Given the description of an element on the screen output the (x, y) to click on. 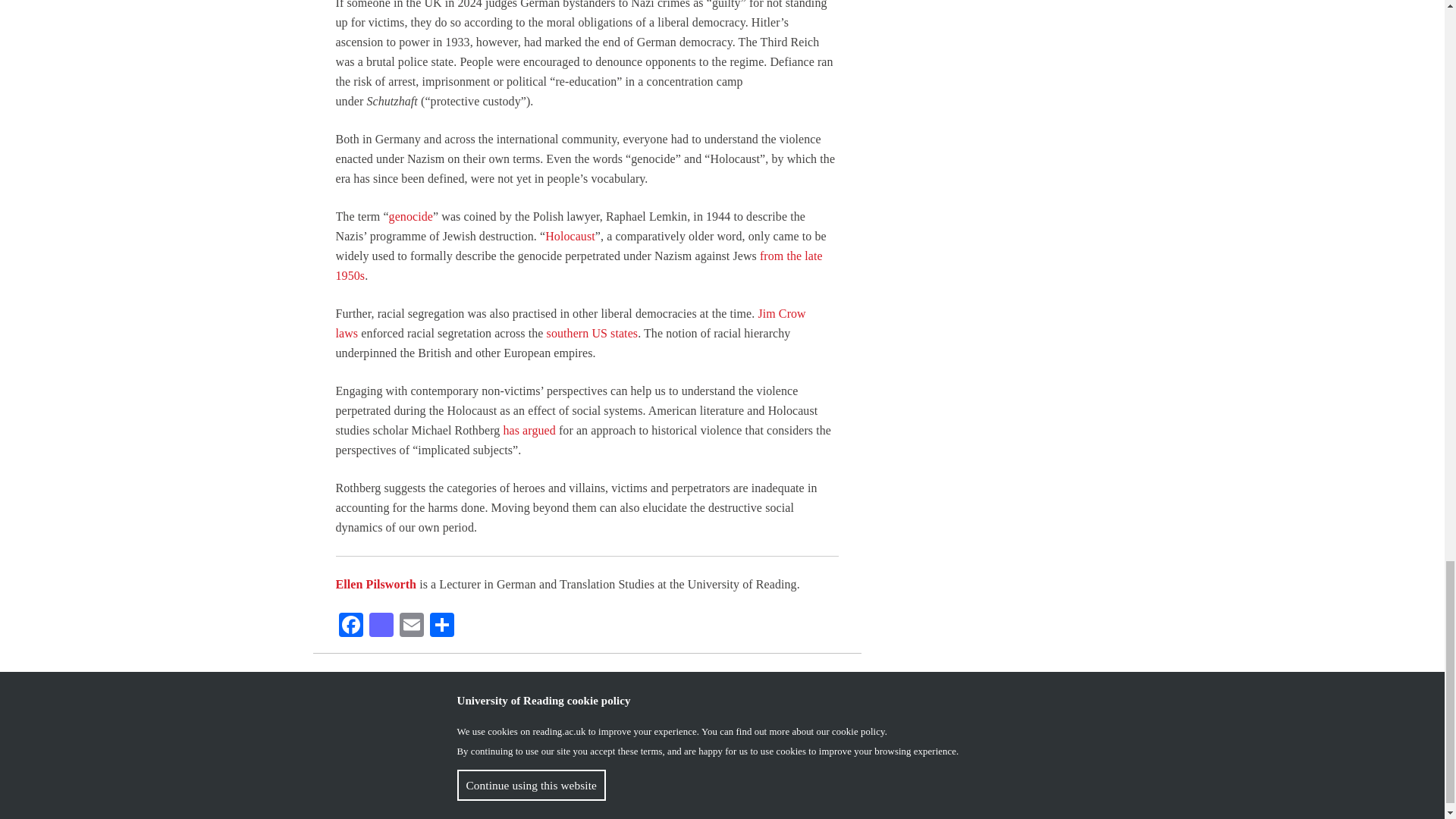
from the late 1950s (578, 265)
genocide (410, 215)
YouTube opens up in new browser window (1065, 798)
Email (411, 626)
View all posts tagged history (584, 683)
View all posts tagged German (425, 683)
Facebook opens up in new browser window (1036, 798)
View all posts tagged languages and cultures (395, 710)
Email (411, 626)
has argued (528, 430)
View all posts tagged languages (668, 683)
View all posts tagged WW2 (508, 710)
View all posts tagged germany (504, 683)
Facebook (349, 626)
View all posts tagged feature (349, 683)
